Given the description of an element on the screen output the (x, y) to click on. 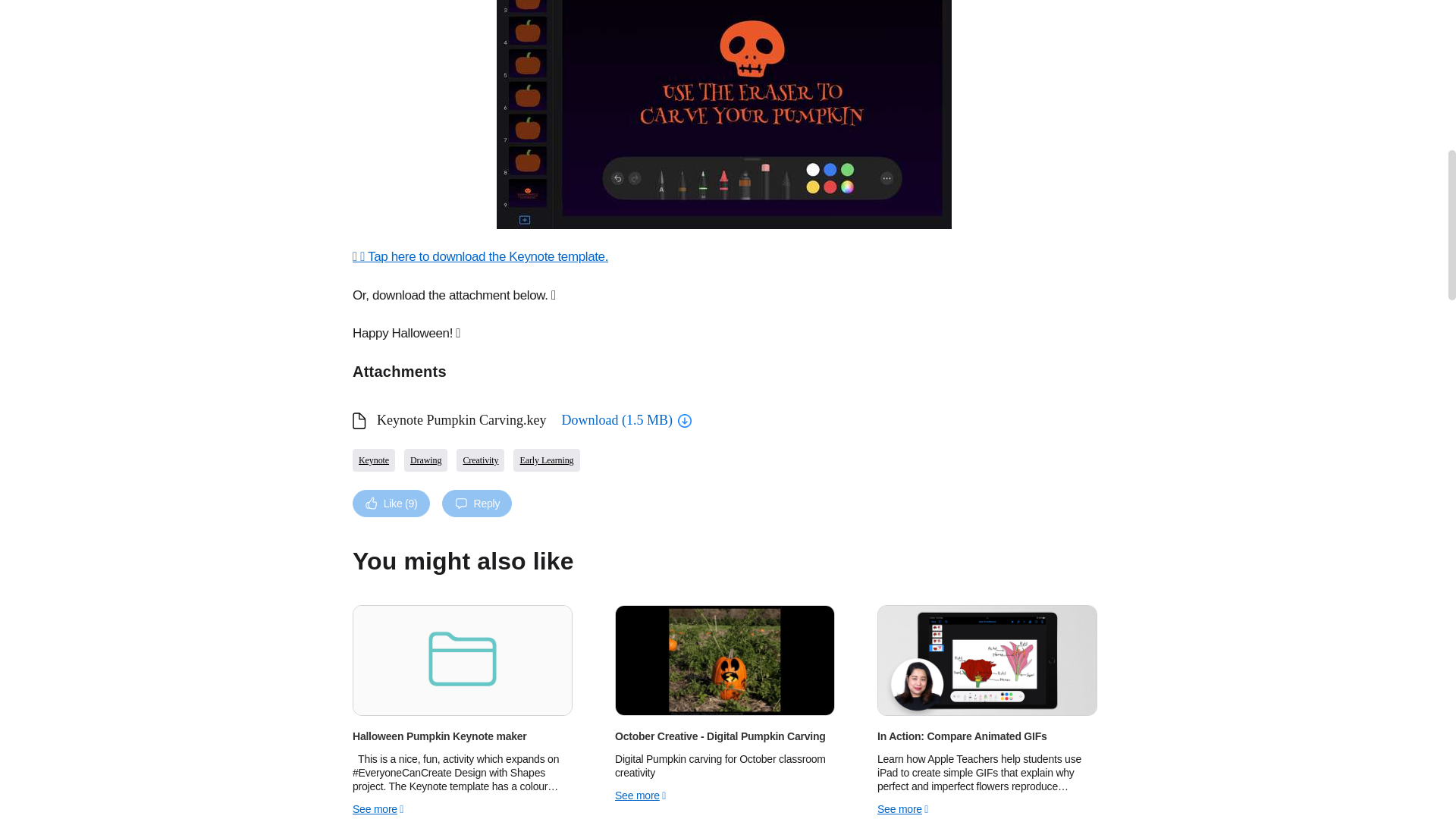
Halloween Pumpkin Keynote maker (461, 735)
In Action: Compare Animated GIFs  (986, 735)
Digital Pumpkin carving for October classroom creativity (723, 765)
Use the eraser to carve your pumpkin.  (724, 114)
Apple Education Community (986, 660)
October Creative - Digital Pumpkin Carving (723, 735)
Pumpkin in field (724, 660)
